Given the description of an element on the screen output the (x, y) to click on. 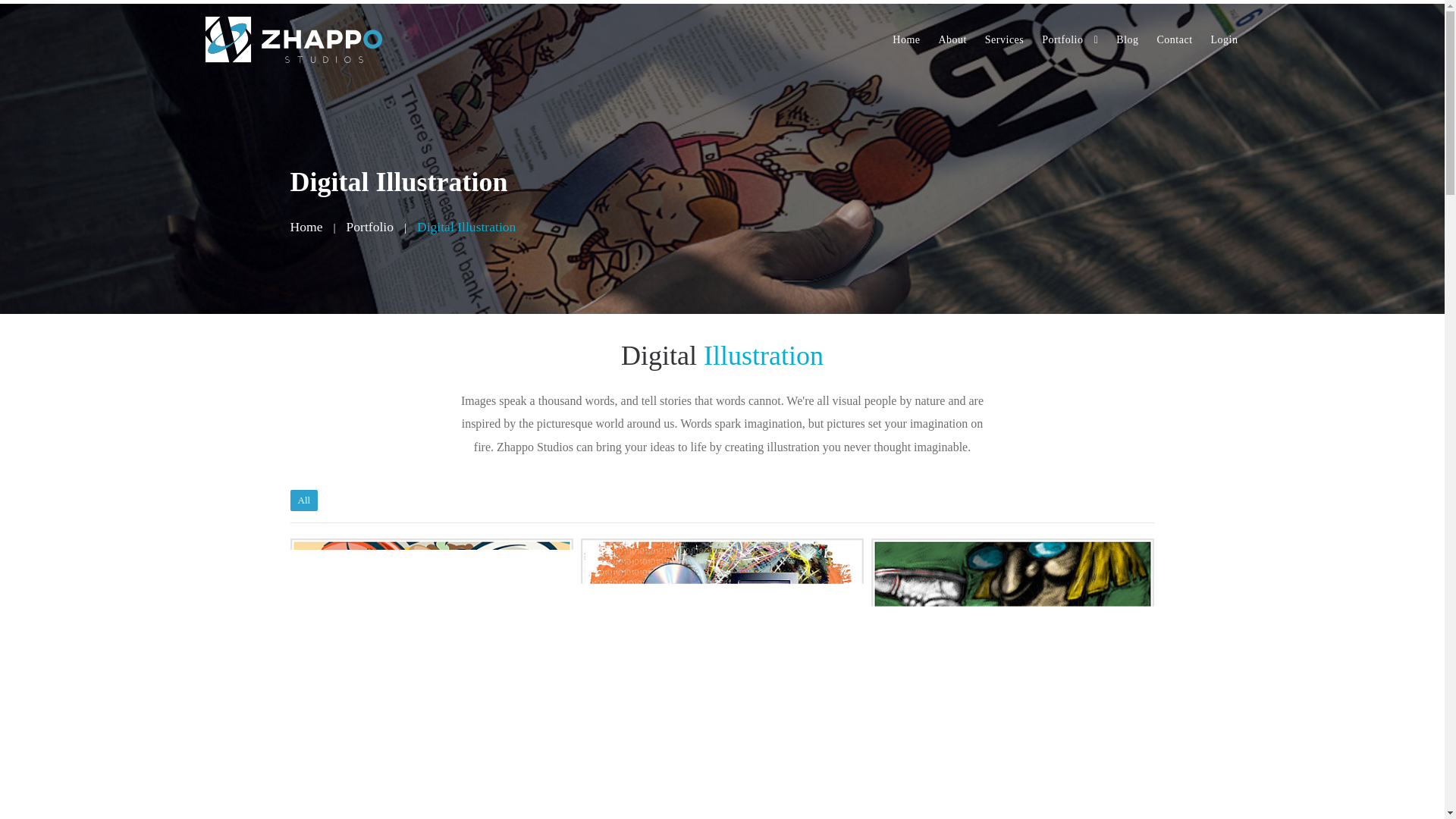
All (303, 500)
Portfolio (1069, 39)
Home (305, 226)
Login (1223, 39)
Home (906, 39)
About (952, 39)
Home (906, 39)
Services (1003, 39)
Contact (1174, 39)
Zhappo Studios (293, 37)
